Given the description of an element on the screen output the (x, y) to click on. 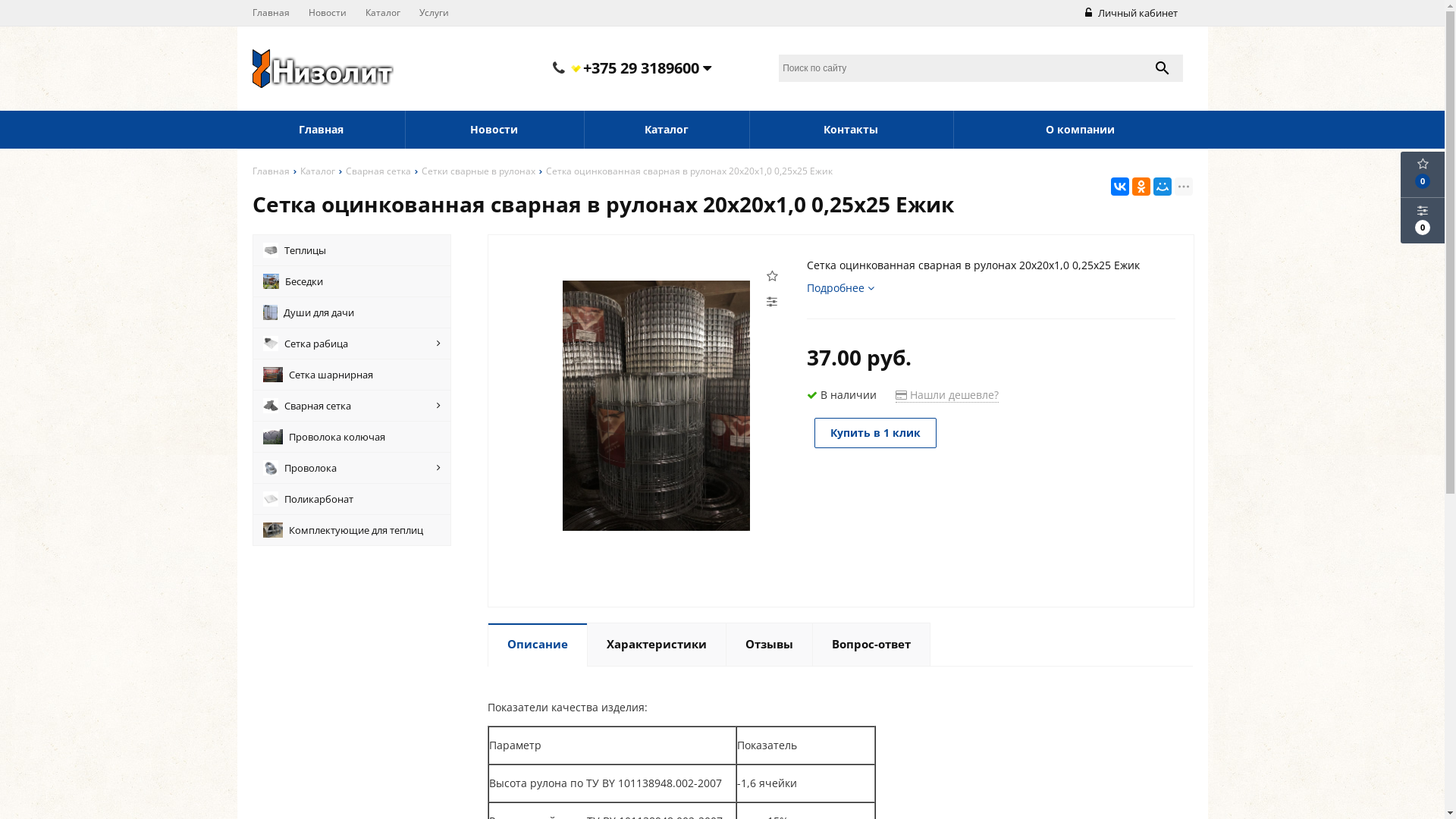
0 Element type: text (1422, 220)
+375 29 3189600 Element type: text (639, 68)
0 Element type: text (1422, 174)
search Element type: text (1162, 67)
